Given the description of an element on the screen output the (x, y) to click on. 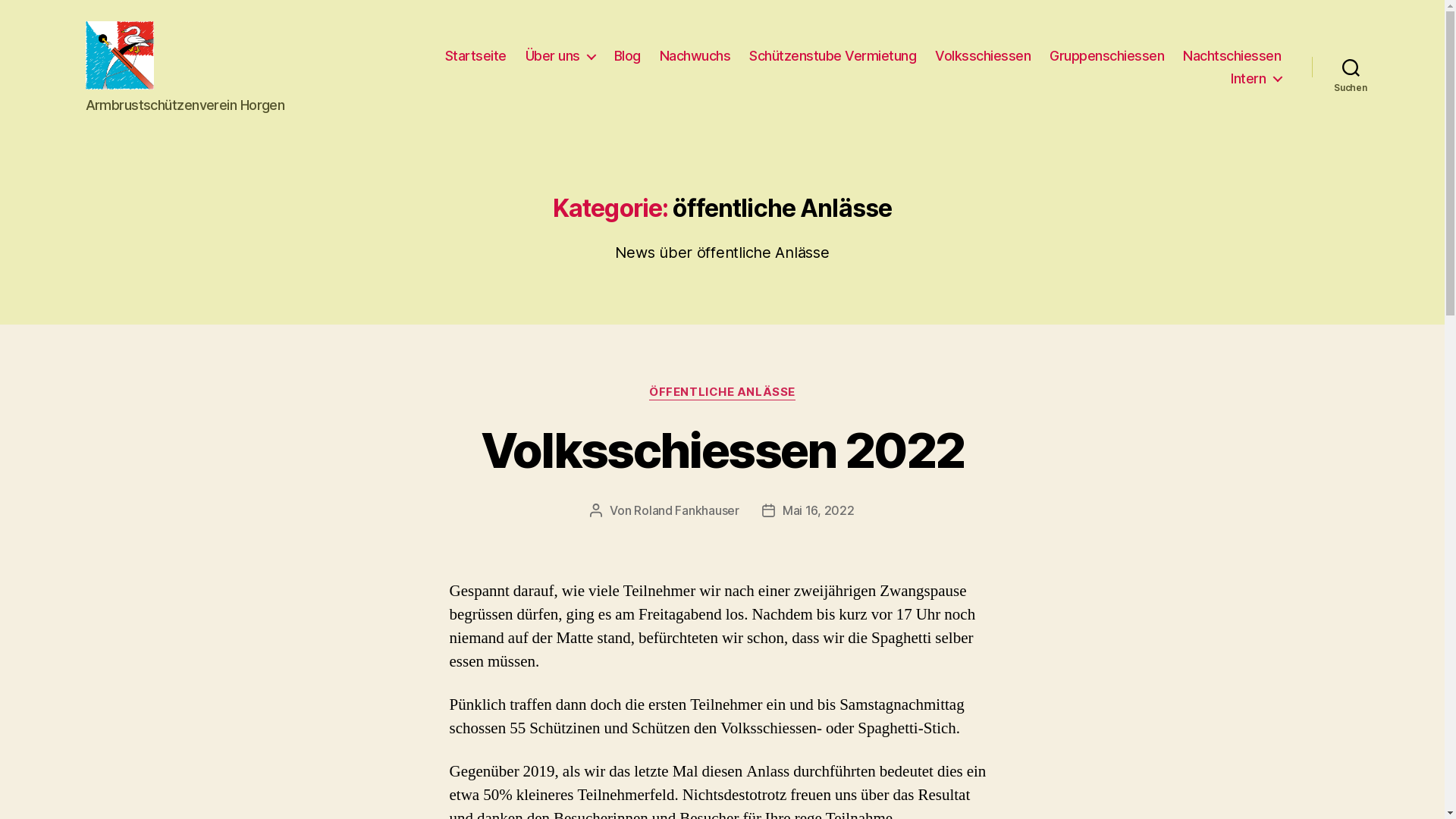
Mai 16, 2022 Element type: text (818, 509)
Roland Fankhauser Element type: text (685, 509)
Nachwuchs Element type: text (695, 55)
Volksschiessen 2022 Element type: text (721, 449)
Suchen Element type: text (1350, 66)
Startseite Element type: text (475, 55)
Intern Element type: text (1255, 77)
Nachtschiessen Element type: text (1231, 55)
Blog Element type: text (627, 55)
Gruppenschiessen Element type: text (1106, 55)
Volksschiessen Element type: text (982, 55)
